Given the description of an element on the screen output the (x, y) to click on. 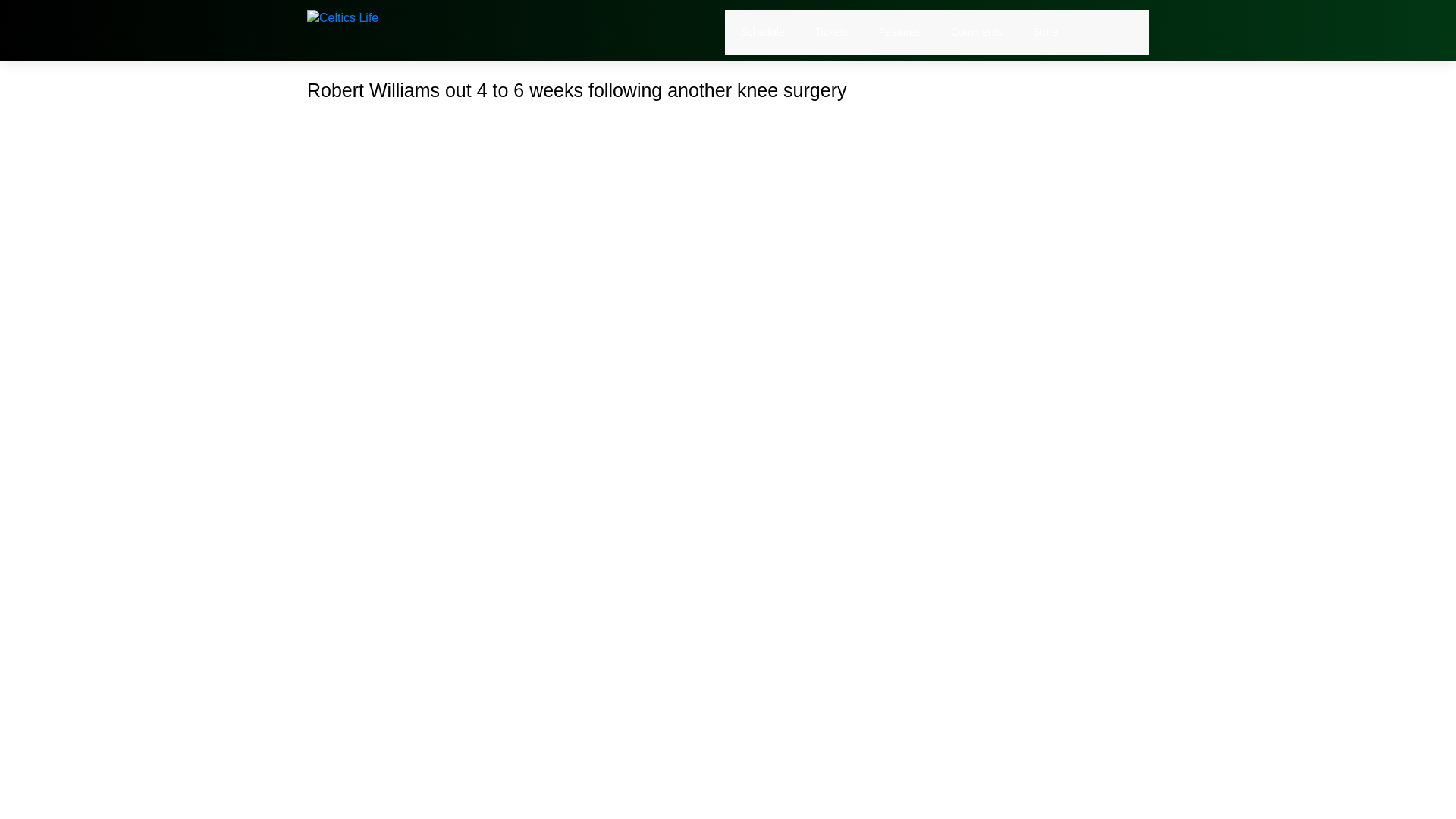
Comments (976, 32)
Tickets (831, 32)
Store (1045, 32)
Features (899, 32)
Schedule (761, 32)
